Given the description of an element on the screen output the (x, y) to click on. 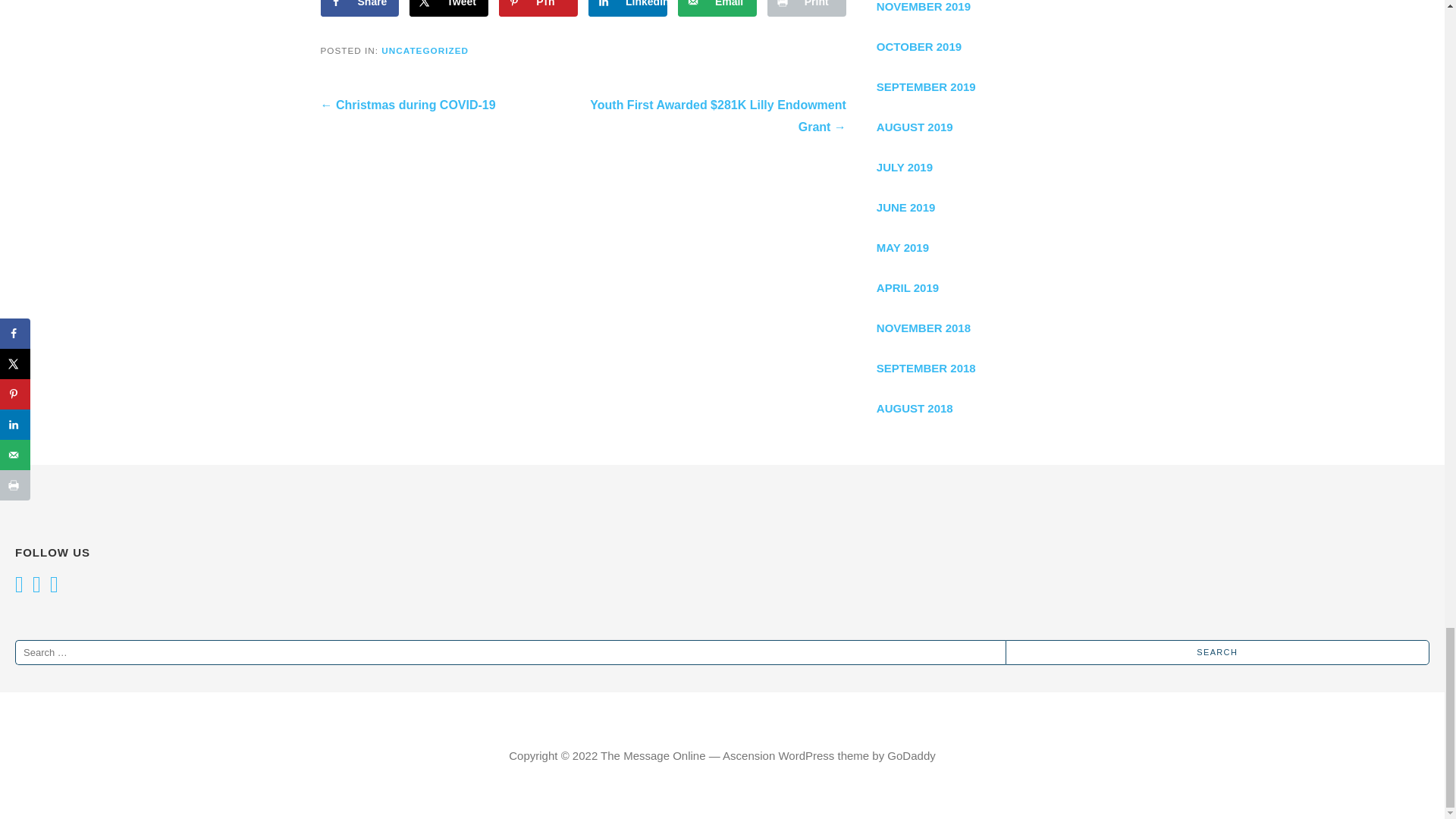
Share on X (448, 8)
Email (717, 8)
Pin (538, 8)
Print this webpage (806, 8)
Search (1217, 652)
Search (1217, 652)
Share on Facebook (359, 8)
Share (359, 8)
Send over email (717, 8)
LinkedIn (627, 8)
Share on LinkedIn (627, 8)
Tweet (448, 8)
Save to Pinterest (538, 8)
